Given the description of an element on the screen output the (x, y) to click on. 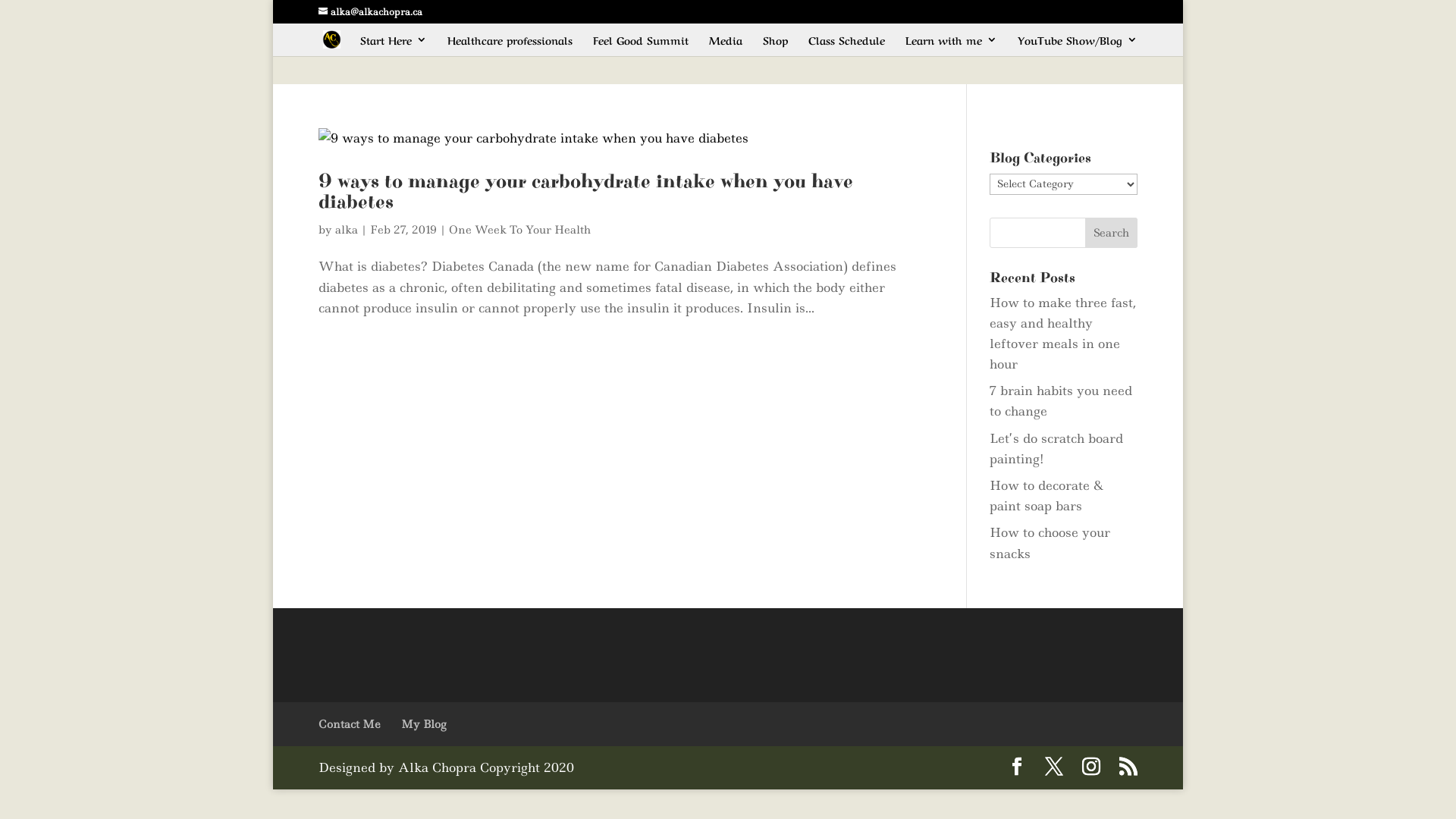
Media Element type: text (725, 45)
One Week To Your Health Element type: text (519, 229)
Healthcare professionals Element type: text (509, 45)
alka Element type: text (346, 229)
YouTube Show/Blog Element type: text (1077, 45)
7 brain habits you need to change Element type: text (1060, 400)
How to decorate & paint soap bars Element type: text (1046, 495)
Start Here Element type: text (393, 45)
Contact Me Element type: text (349, 723)
alka@alkachopra.ca Element type: text (370, 11)
Shop Element type: text (774, 45)
Feel Good Summit Element type: text (640, 45)
Learn with me Element type: text (951, 45)
Search Element type: text (1111, 231)
My Blog Element type: text (423, 723)
Class Schedule Element type: text (846, 45)
How to choose your snacks Element type: text (1049, 542)
